Given the description of an element on the screen output the (x, y) to click on. 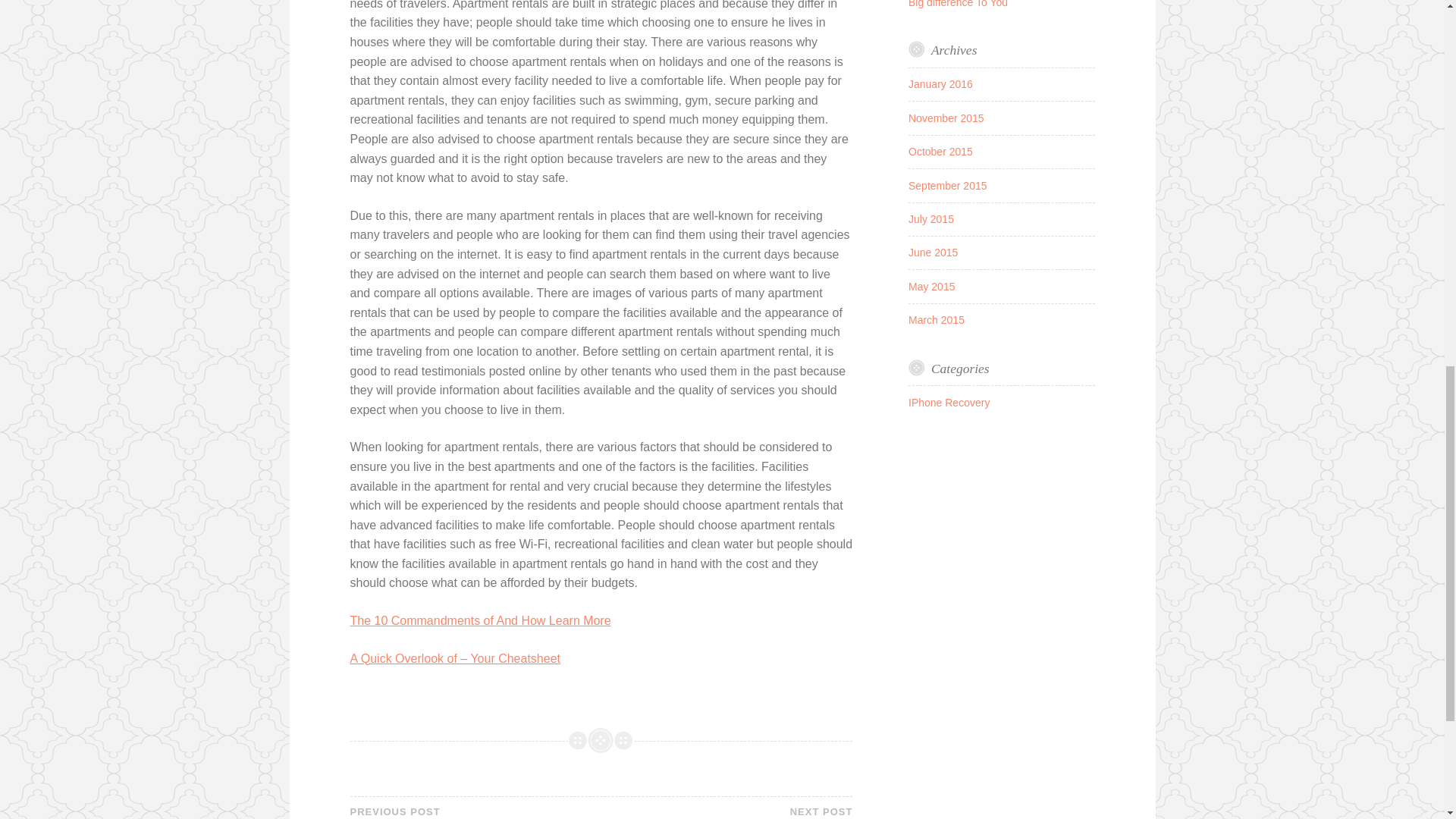
IPhone Recovery (949, 402)
The Iphone And How It Can Make A Big difference To You (992, 3)
March 2015 (935, 319)
July 2015 (930, 218)
June 2015 (933, 252)
May 2015 (475, 812)
January 2016 (931, 286)
October 2015 (940, 83)
The 10 Commandments of And How Learn More (940, 151)
September 2015 (726, 812)
November 2015 (480, 620)
